Given the description of an element on the screen output the (x, y) to click on. 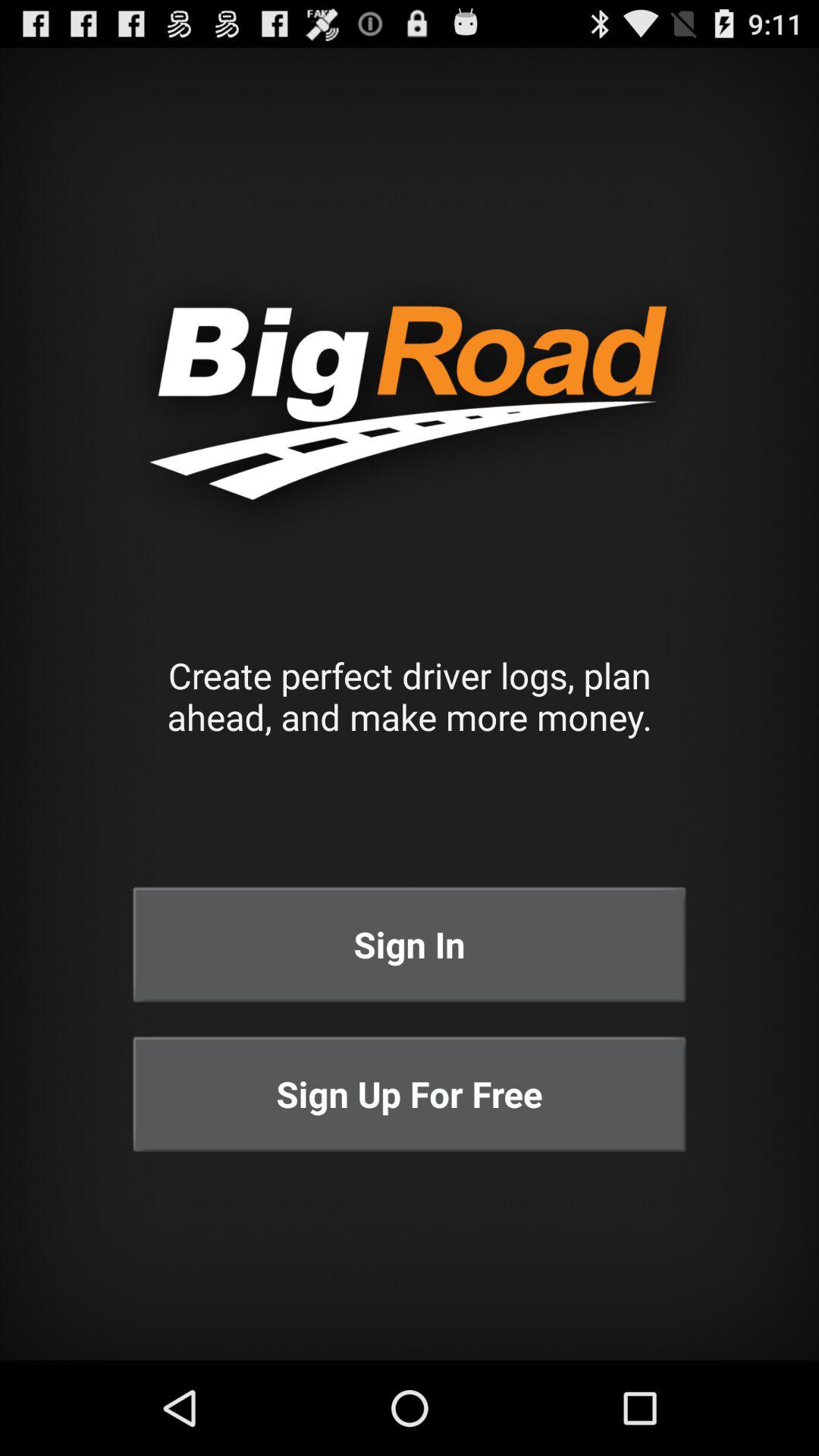
choose the sign up for at the bottom (409, 1093)
